Given the description of an element on the screen output the (x, y) to click on. 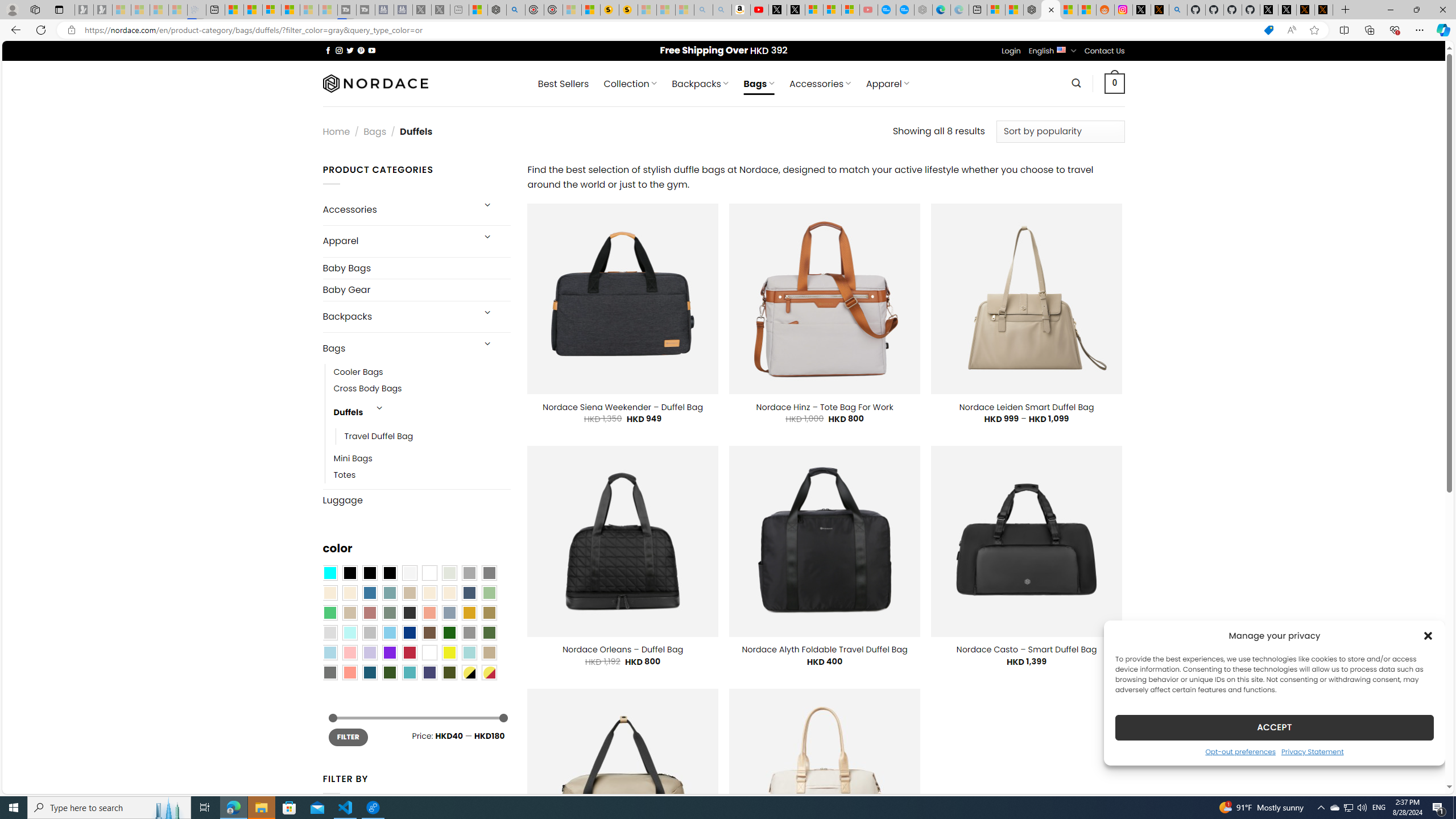
Dusty Blue (449, 613)
Shanghai, China Weather trends | Microsoft Weather (1086, 9)
Dark Gray (468, 572)
Streaming Coverage | T3 - Sleeping (347, 9)
Brownie (408, 592)
Newsletter Sign Up - Sleeping (102, 9)
Yellow-Red (488, 672)
Follow on Instagram (338, 49)
All Gray (488, 572)
Yellow-Black (468, 672)
Backpacks (397, 316)
Microsoft account | Microsoft Account Privacy Settings (996, 9)
